Given the description of an element on the screen output the (x, y) to click on. 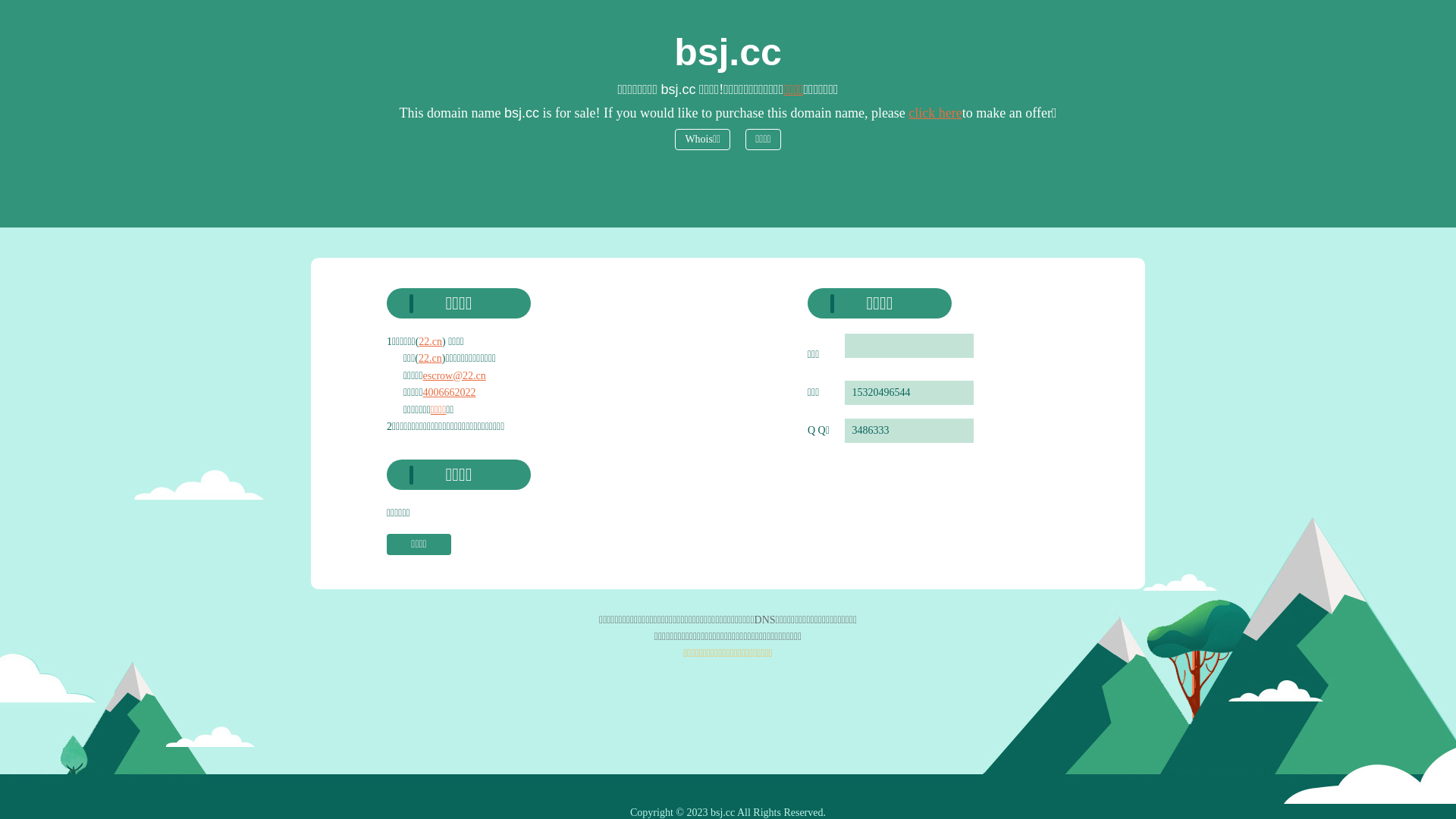
escrow@22.cn Element type: text (454, 375)
4006662022 Element type: text (449, 392)
22.cn Element type: text (430, 358)
click here Element type: text (934, 112)
22.cn Element type: text (430, 341)
